Given the description of an element on the screen output the (x, y) to click on. 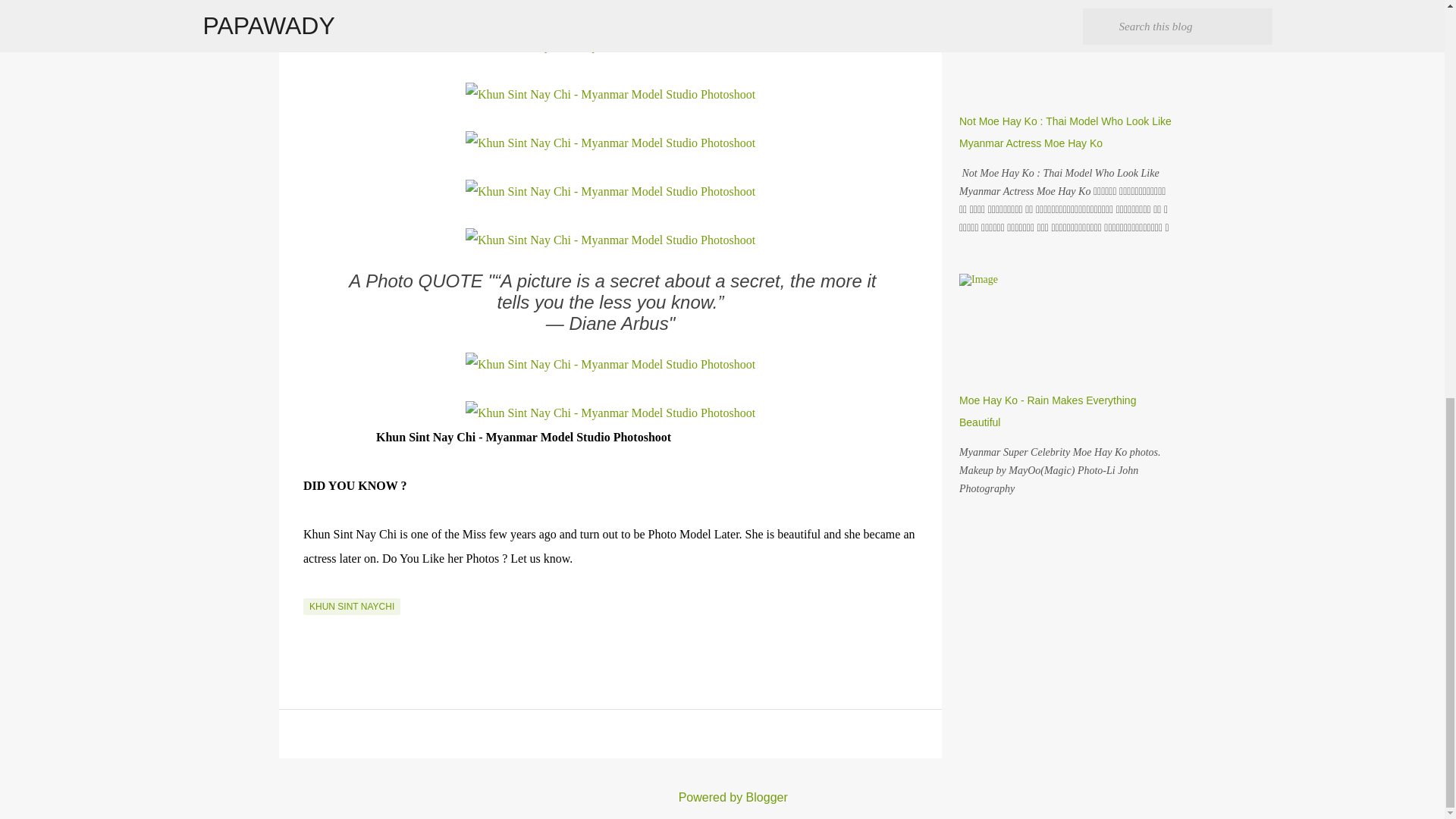
Khun Sint Nay Chi - Myanmar Model Studio Photoshoot (610, 46)
Khun Sint Nay Chi - Myanmar Model Studio Photoshoot (610, 413)
Moe Hay Ko - Rain Makes Everything Beautiful (1047, 410)
Khun Sint Nay Chi - Myanmar Model Studio Photoshoot (610, 191)
Khun Sint Nay Chi - Myanmar Model Studio Photoshoot (610, 94)
Khun Sint Nay Chi - Myanmar Model Studio Photoshoot (610, 240)
Khun Sint Nay Chi - Myanmar Model Studio Photoshoot (610, 364)
KHUN SINT NAYCHI (351, 606)
Khun Sint Nay Chi - Myanmar Model Studio Photoshoot (610, 143)
Powered by Blogger (721, 797)
